Given the description of an element on the screen output the (x, y) to click on. 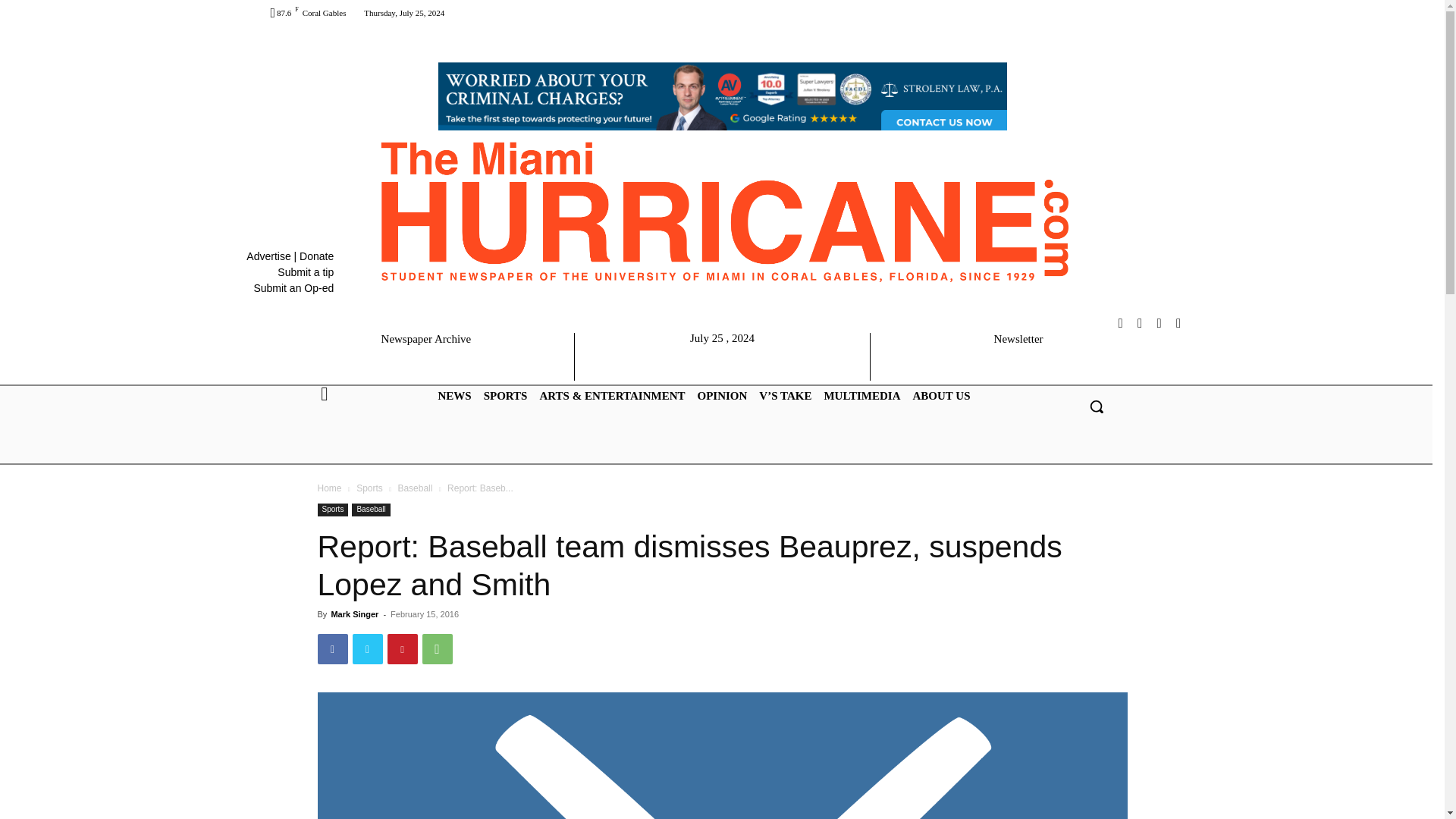
Instagram (1120, 323)
